Given the description of an element on the screen output the (x, y) to click on. 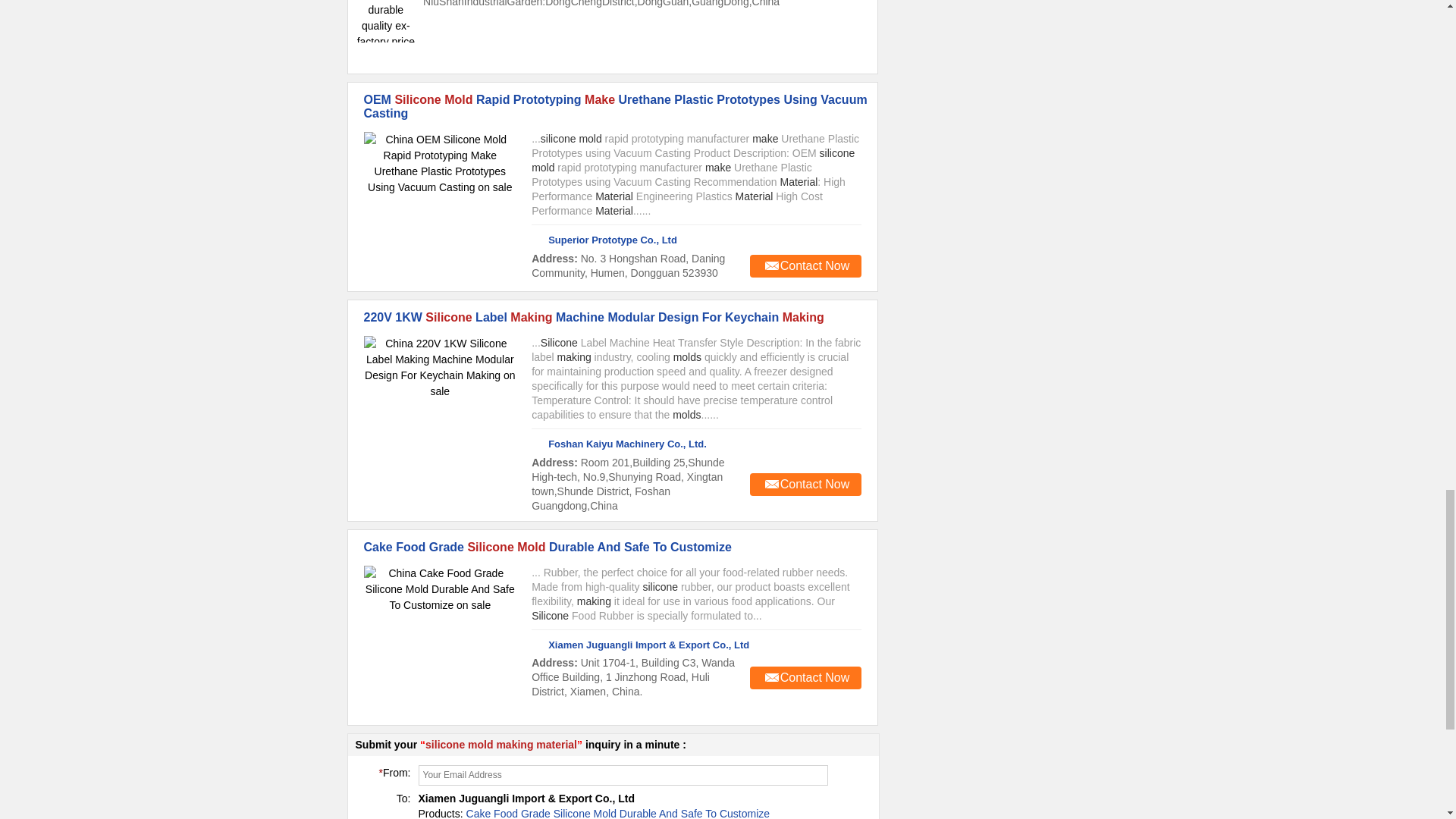
Superior Prototype Co., Ltd from china (604, 239)
